Given the description of an element on the screen output the (x, y) to click on. 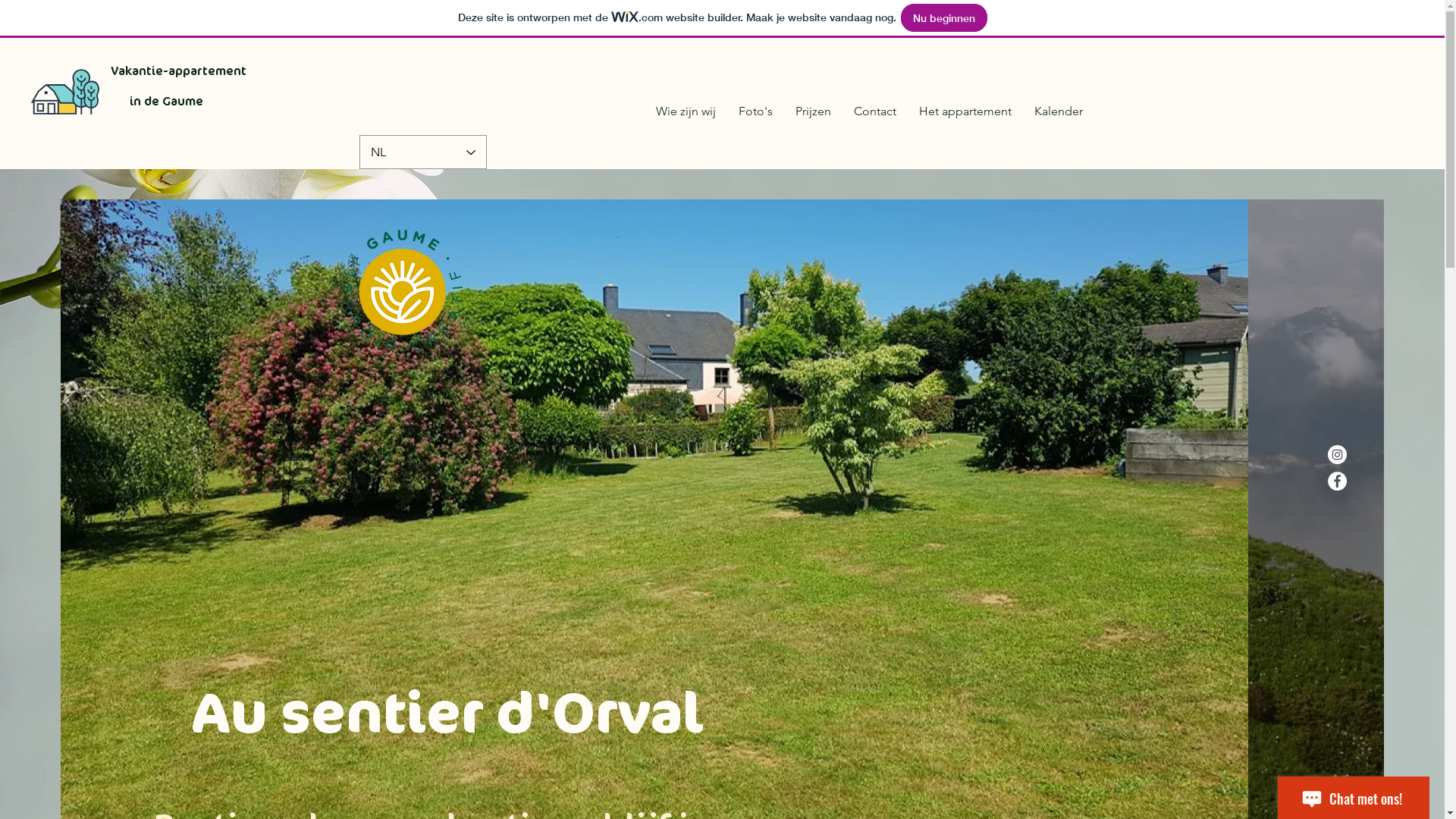
Foto's Element type: text (754, 111)
Kalender Element type: text (1057, 111)
Wie zijn wij Element type: text (685, 111)
Vakantie-appartement Element type: text (178, 70)
in de Gaume Element type: text (166, 101)
Contact Element type: text (873, 111)
Prijzen Element type: text (813, 111)
Het appartement Element type: text (964, 111)
